Given the description of an element on the screen output the (x, y) to click on. 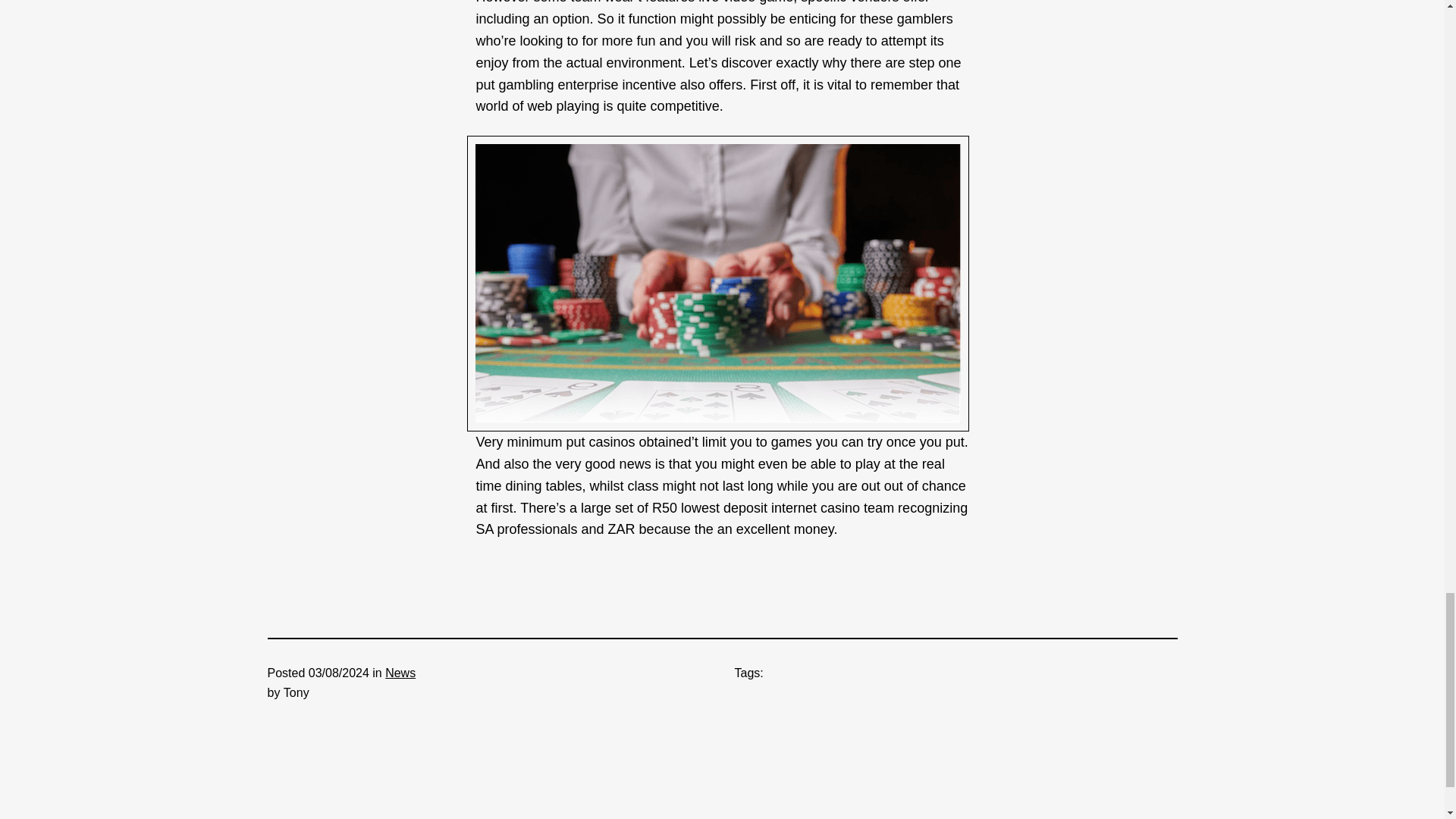
News (399, 672)
